Given the description of an element on the screen output the (x, y) to click on. 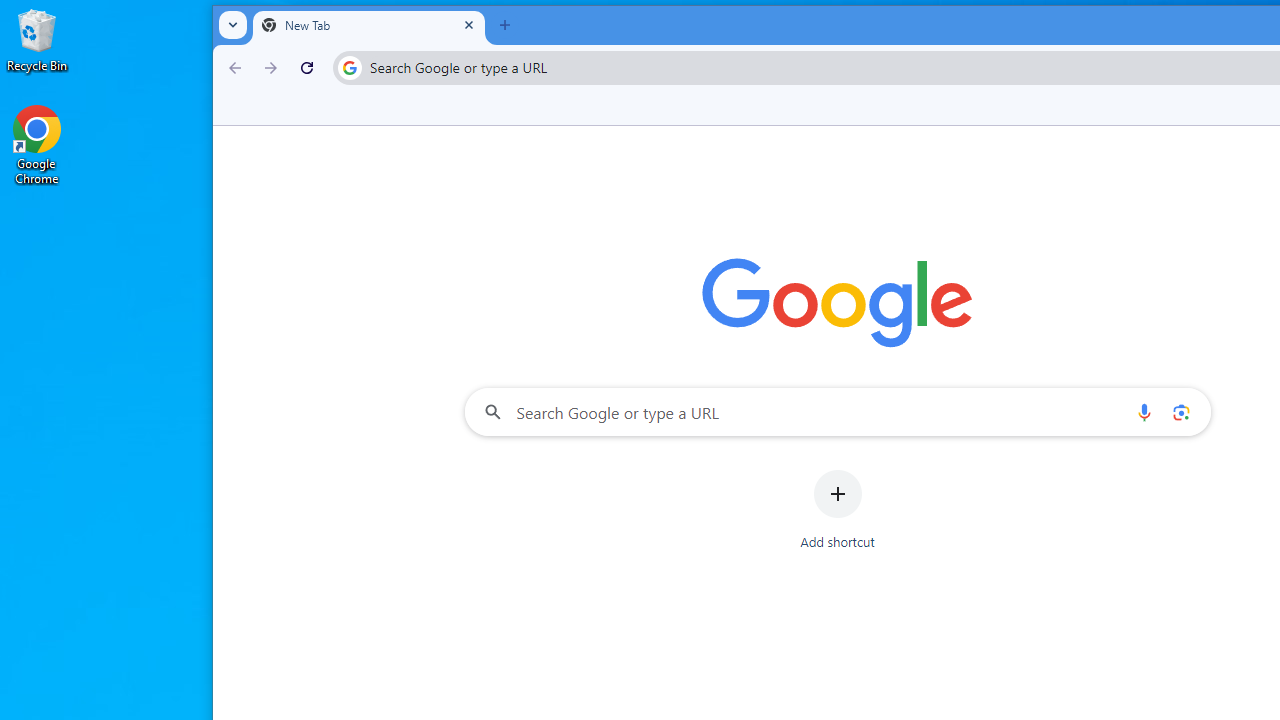
Google Chrome (37, 144)
Recycle Bin (37, 39)
